Given the description of an element on the screen output the (x, y) to click on. 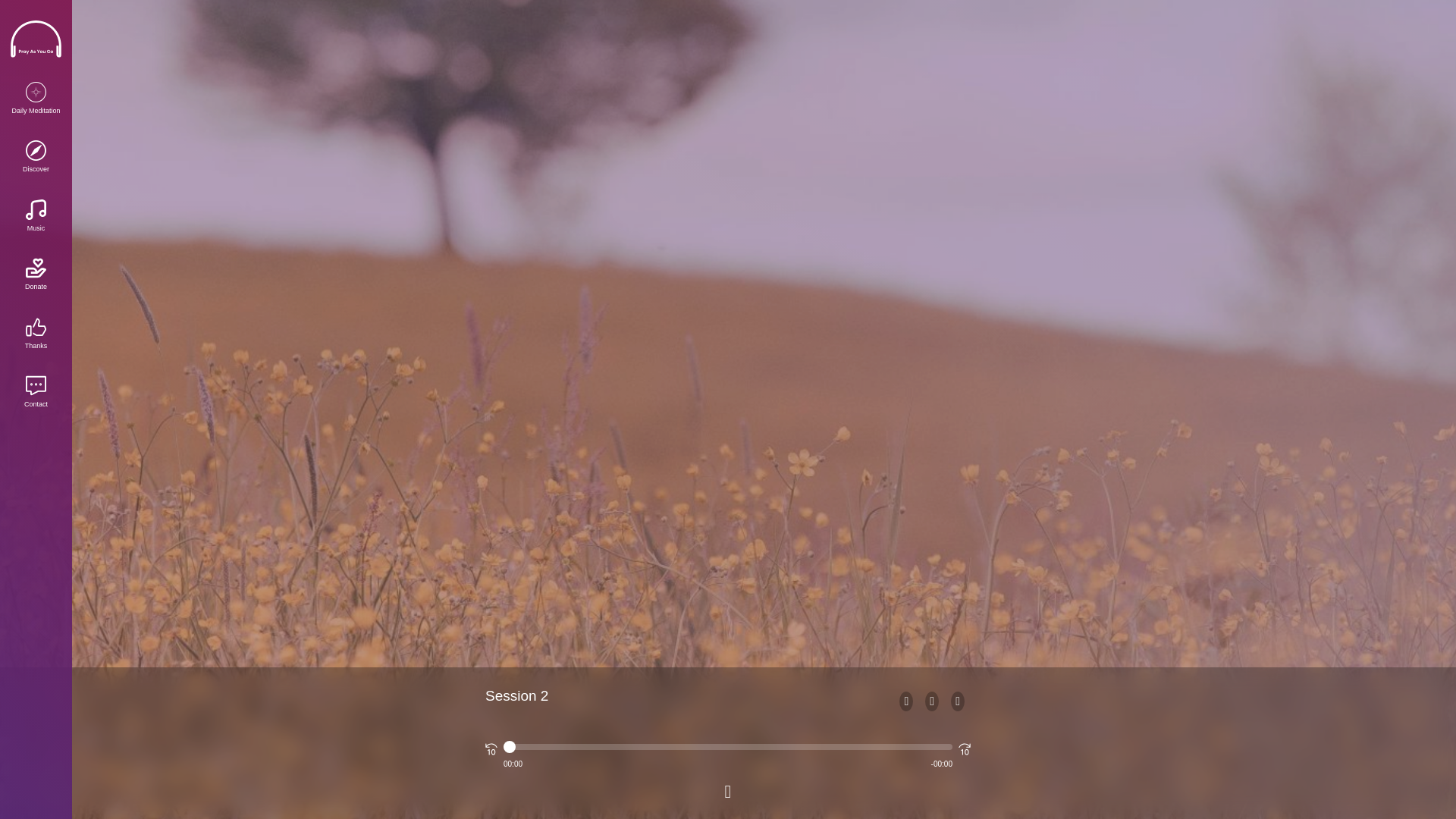
0 (727, 745)
Daily Meditation (35, 99)
Thanks (35, 334)
Discover (35, 157)
Music (35, 216)
Donate (35, 274)
Contact (35, 392)
